Given the description of an element on the screen output the (x, y) to click on. 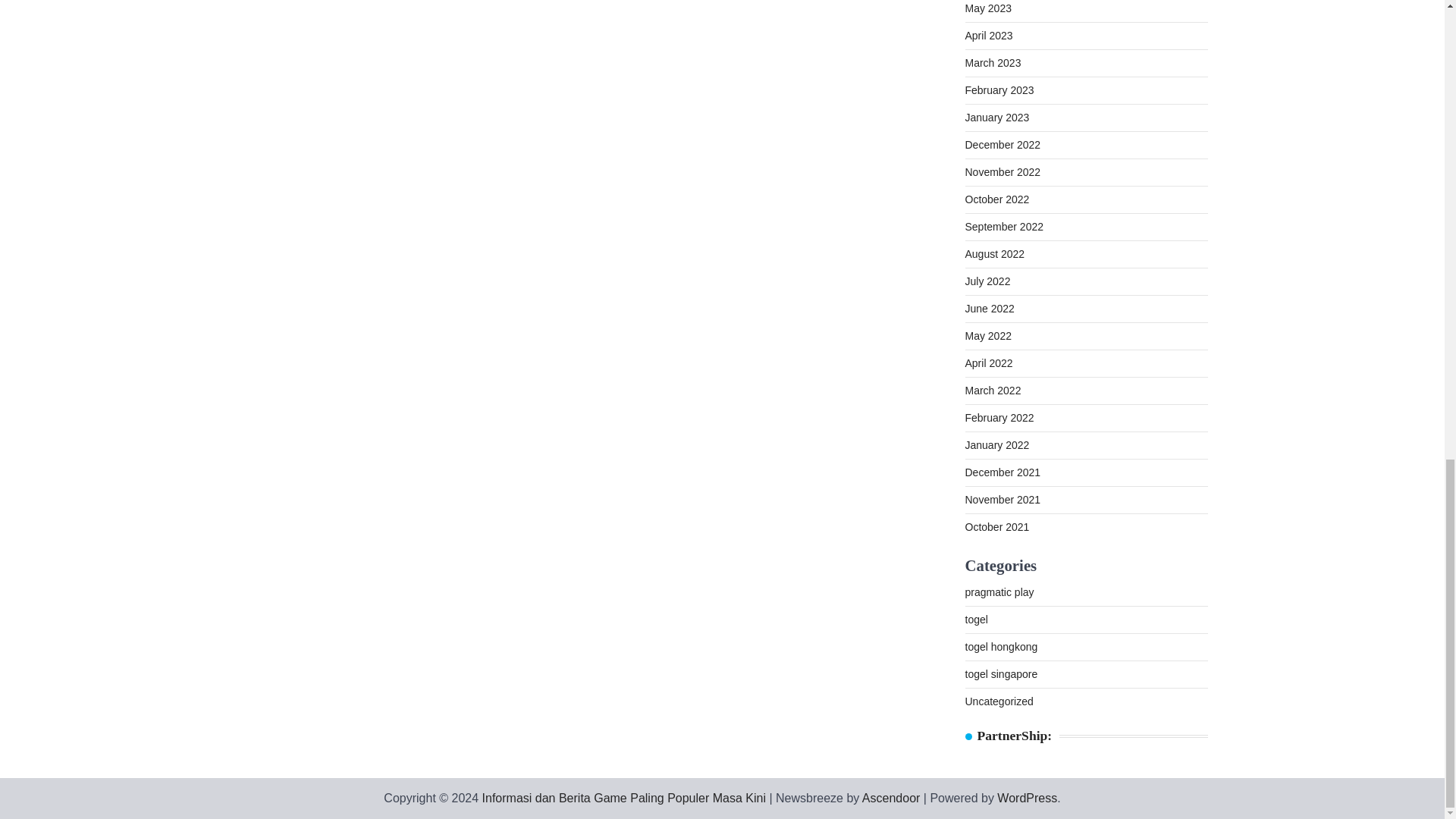
April 2023 (987, 35)
May 2023 (986, 8)
March 2023 (991, 62)
